Given the description of an element on the screen output the (x, y) to click on. 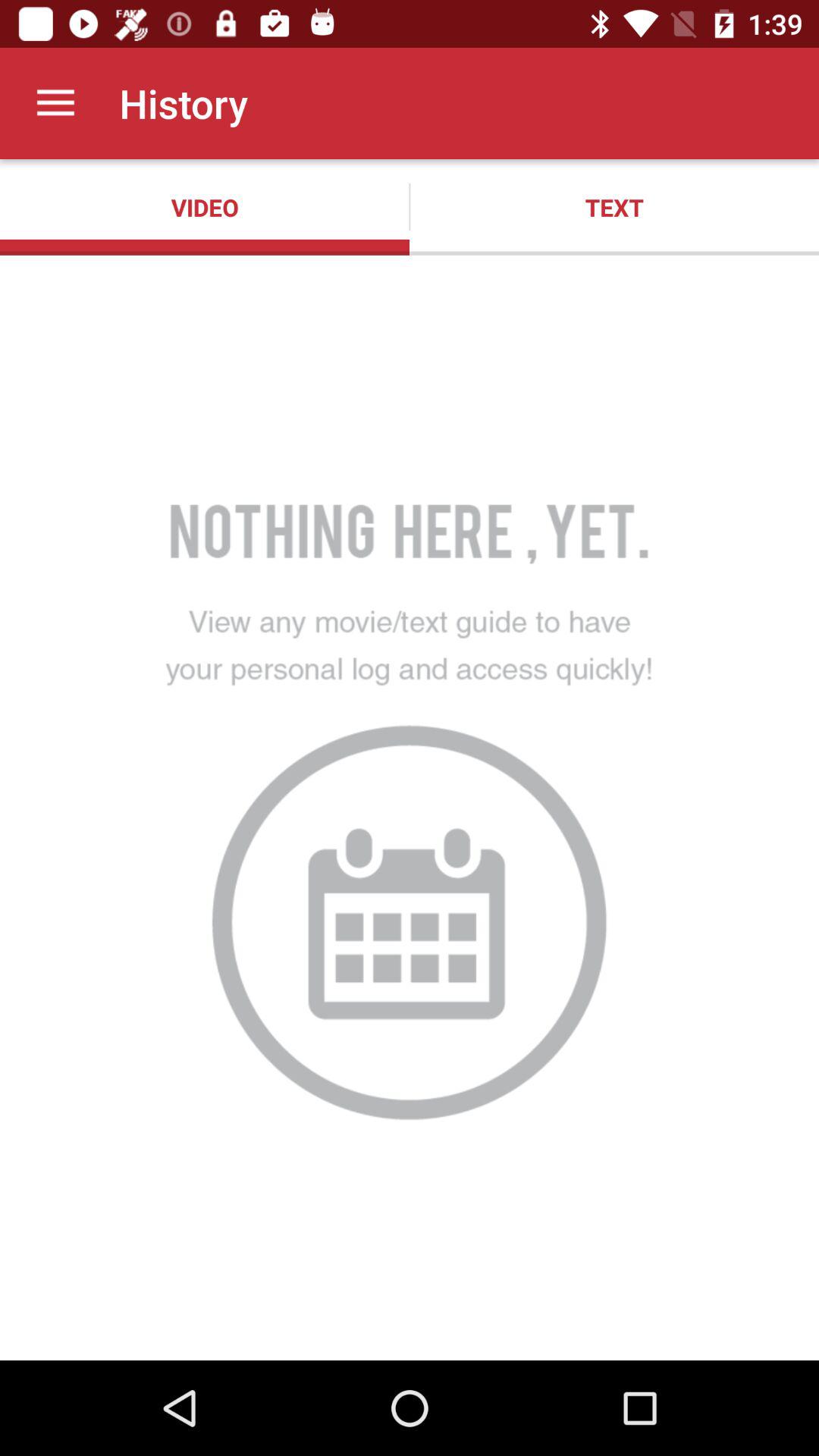
turn off the app to the right of the video app (614, 207)
